Given the description of an element on the screen output the (x, y) to click on. 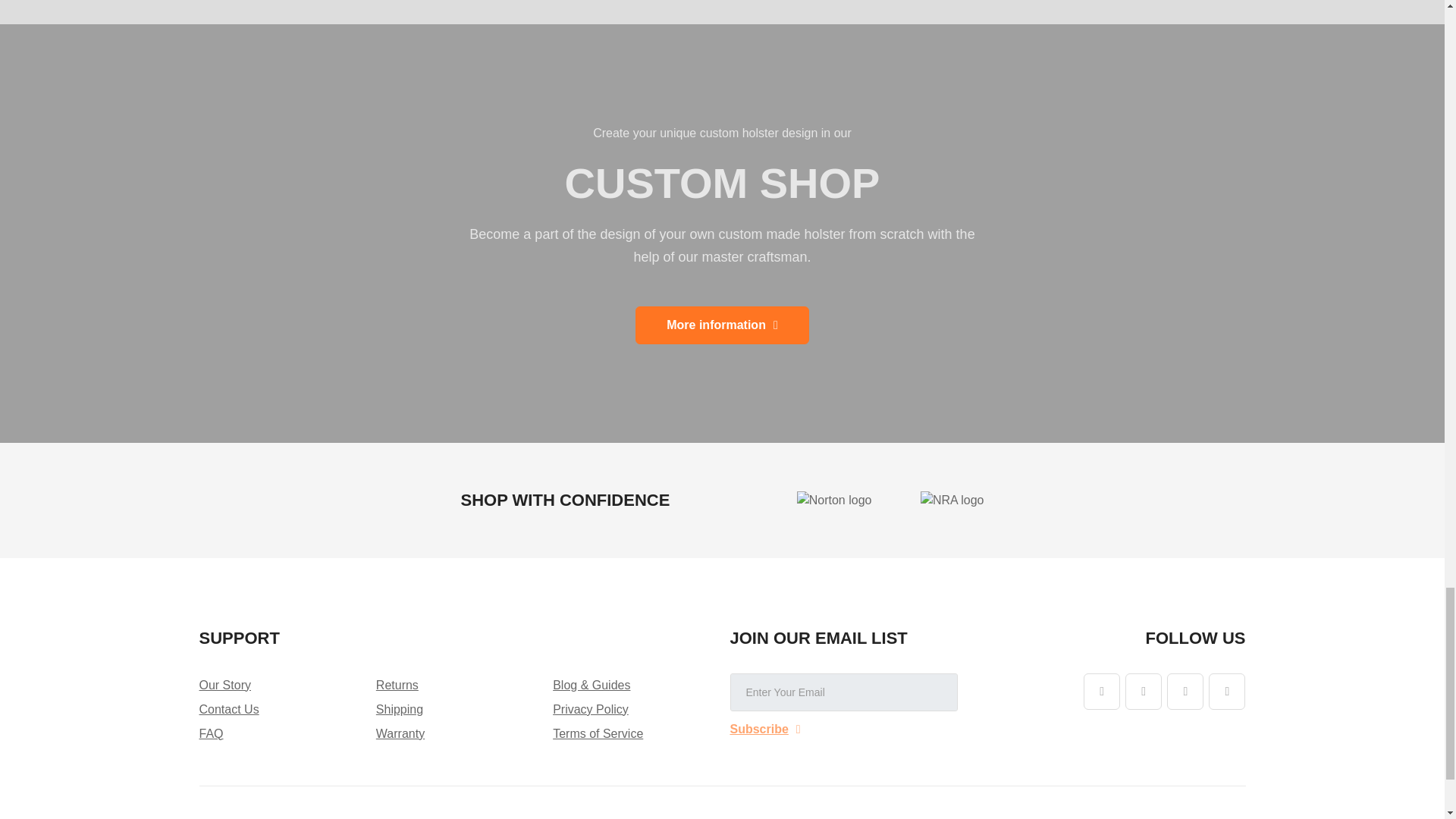
Contact Us (228, 708)
More information (721, 324)
Warranty (400, 733)
Our Story (224, 684)
Shipping (399, 708)
FAQ (210, 733)
Returns (397, 684)
